Given the description of an element on the screen output the (x, y) to click on. 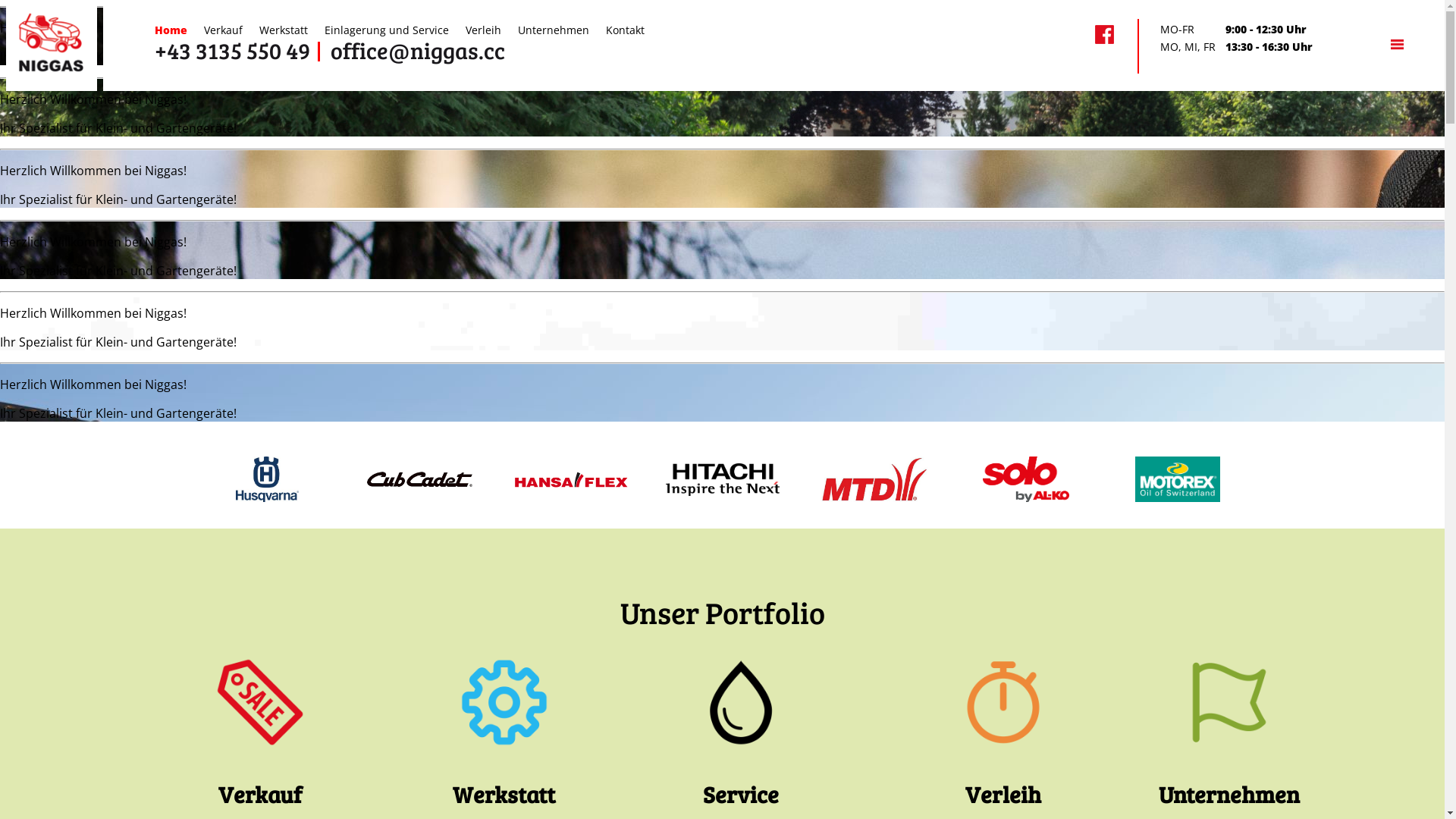
Einlagerung und Service Element type: text (386, 29)
Unternehmen Element type: text (553, 29)
Kontakt Element type: text (624, 29)
office@niggas.cc Element type: text (417, 49)
+43 3135 550 49 Element type: text (232, 49)
Verkauf Element type: text (222, 29)
Home Element type: text (170, 29)
Werkstatt Element type: text (283, 29)
Verleih Element type: text (483, 29)
